Given the description of an element on the screen output the (x, y) to click on. 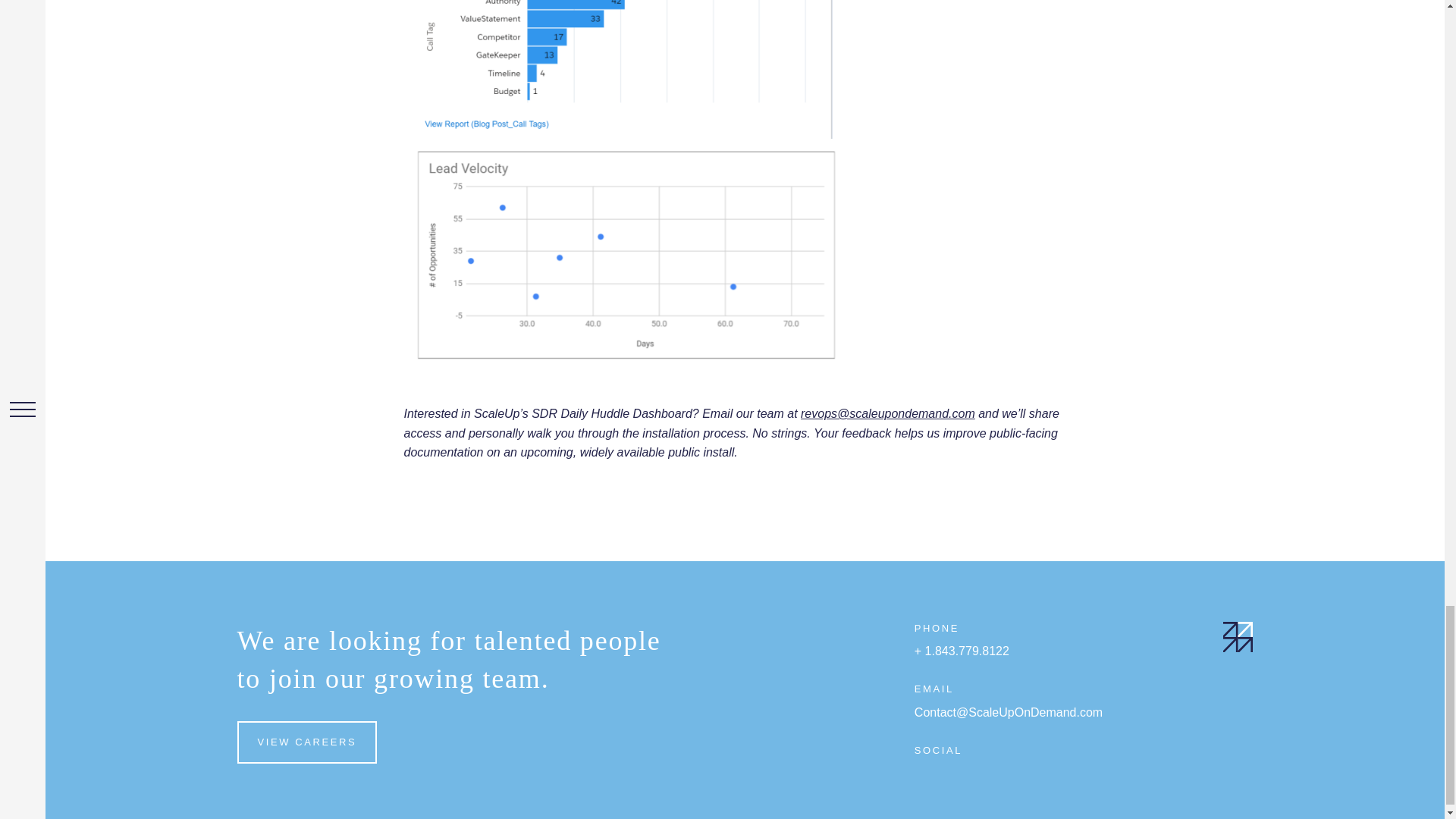
VIEW CAREERS (306, 742)
